Given the description of an element on the screen output the (x, y) to click on. 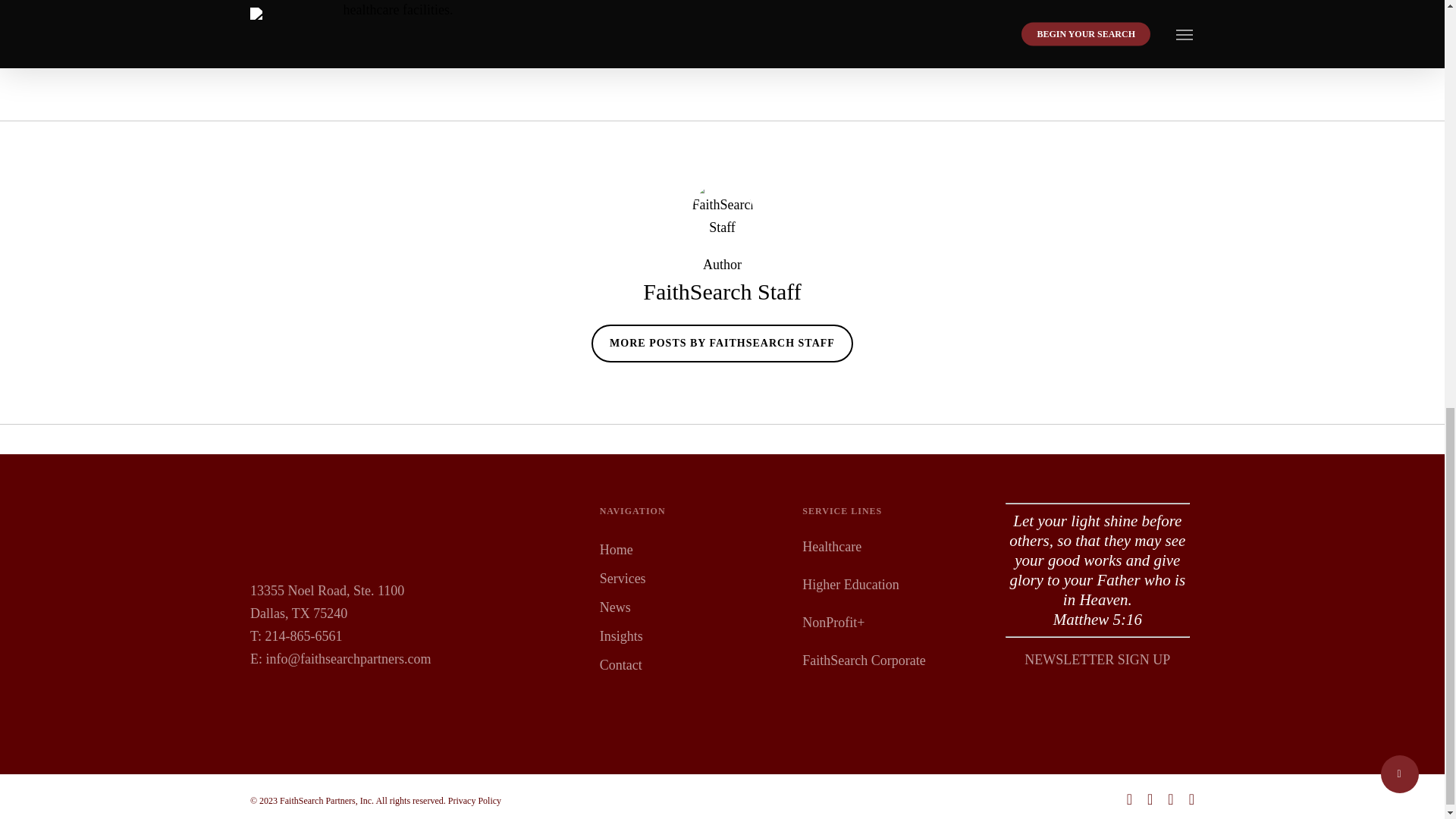
News (691, 607)
Contact (691, 664)
Healthcare (831, 546)
Insights (691, 635)
MORE POSTS BY FAITHSEARCH STAFF (722, 343)
Home (691, 549)
FaithSearch Corporate (863, 660)
Services (691, 578)
Higher Education (850, 584)
NEWSLETTER SIGN UP (1097, 659)
Privacy Policy (474, 800)
